Given the description of an element on the screen output the (x, y) to click on. 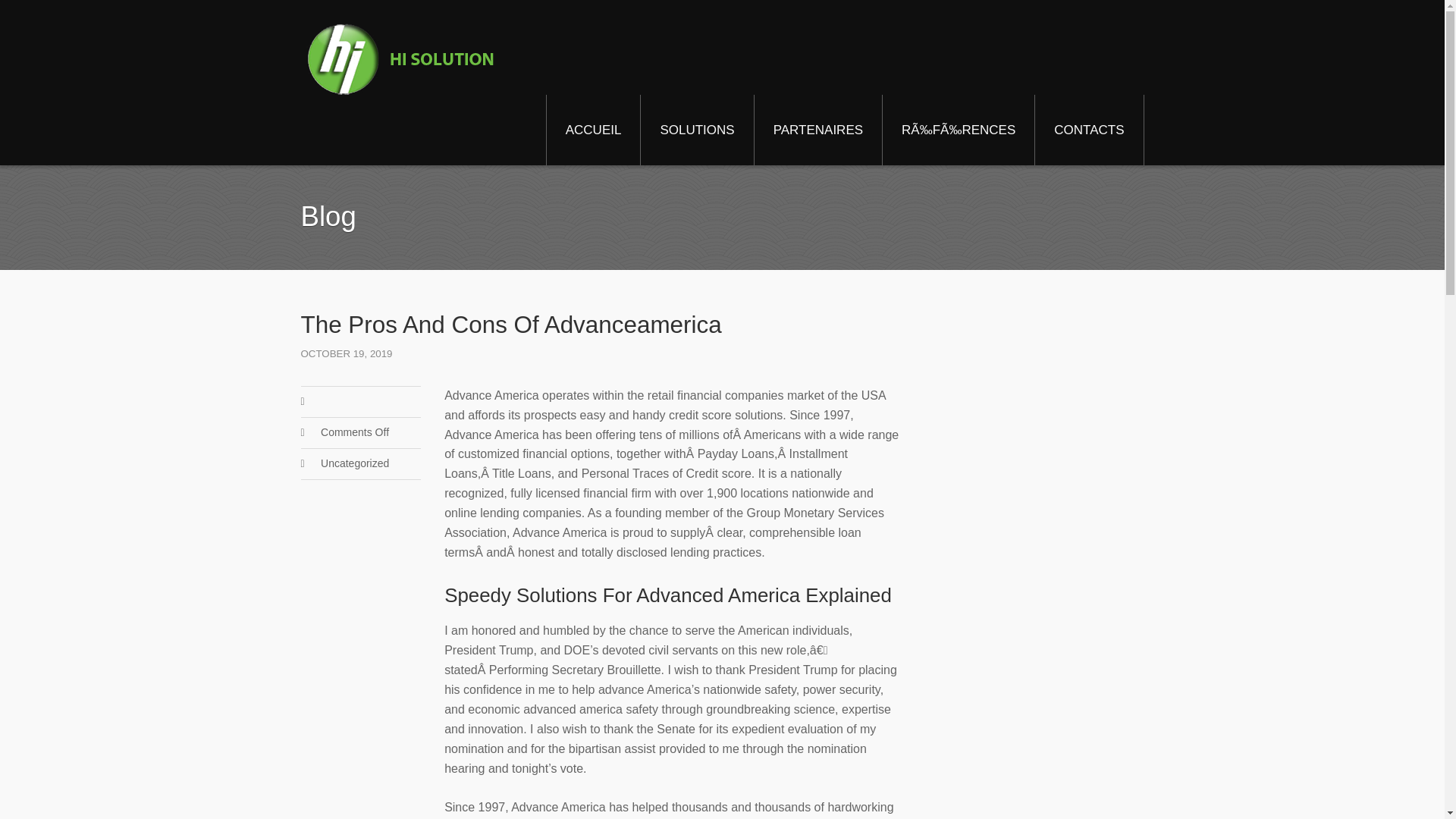
ACCUEIL (593, 129)
Uncategorized (354, 463)
CONTACTS (1088, 129)
SOLUTIONS (696, 129)
PARTENAIRES (818, 129)
